Given the description of an element on the screen output the (x, y) to click on. 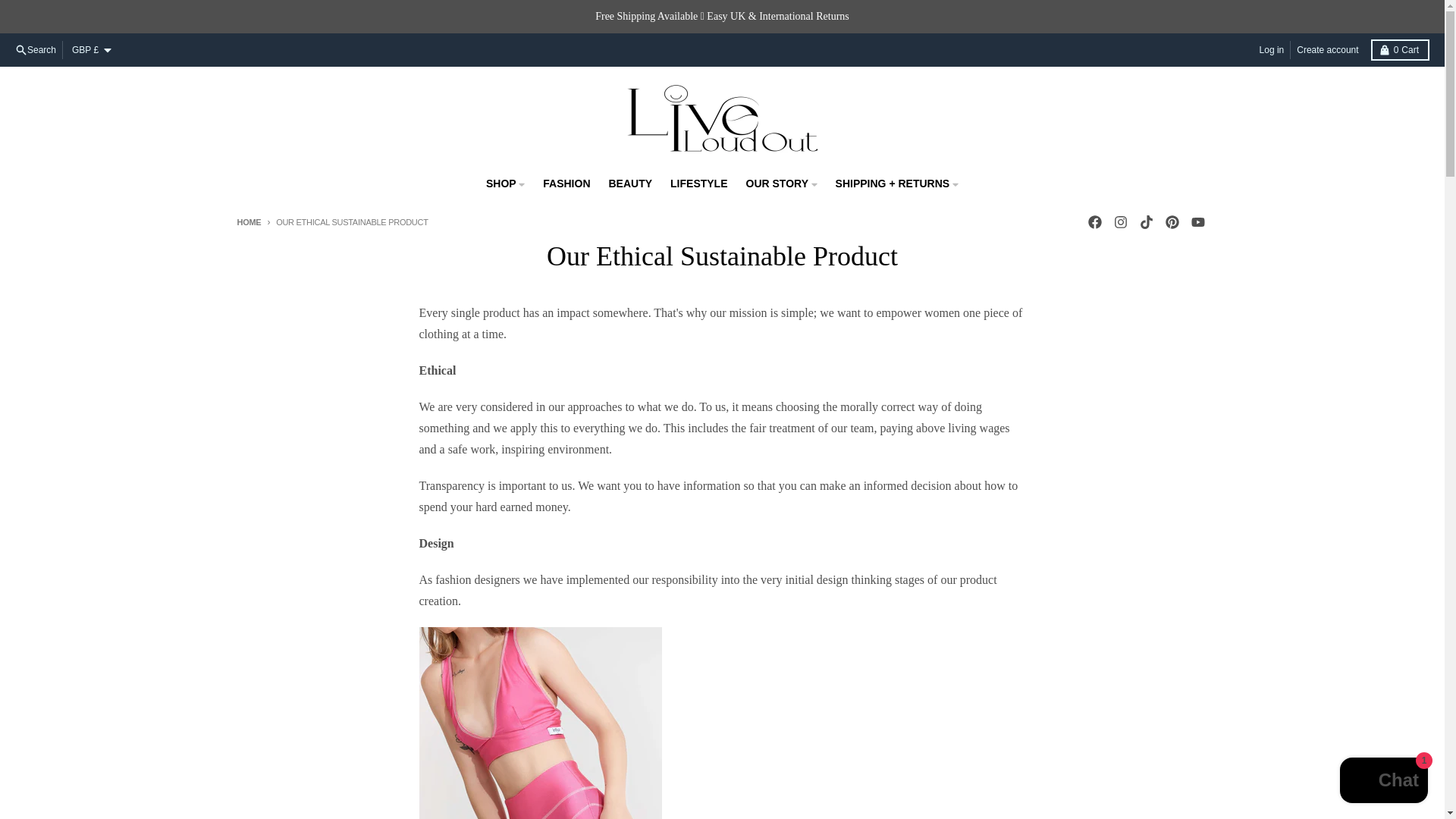
Create account (1327, 49)
Log in (1271, 49)
Back to the homepage (1400, 49)
Pinterest - Liveloudout (247, 221)
Instagram - Liveloudout (1170, 221)
TikTok - Liveloudout (1119, 221)
YouTube - Liveloudout (1145, 221)
Shopify online store chat (1197, 221)
Search (1383, 781)
Facebook - Liveloudout (35, 49)
